Given the description of an element on the screen output the (x, y) to click on. 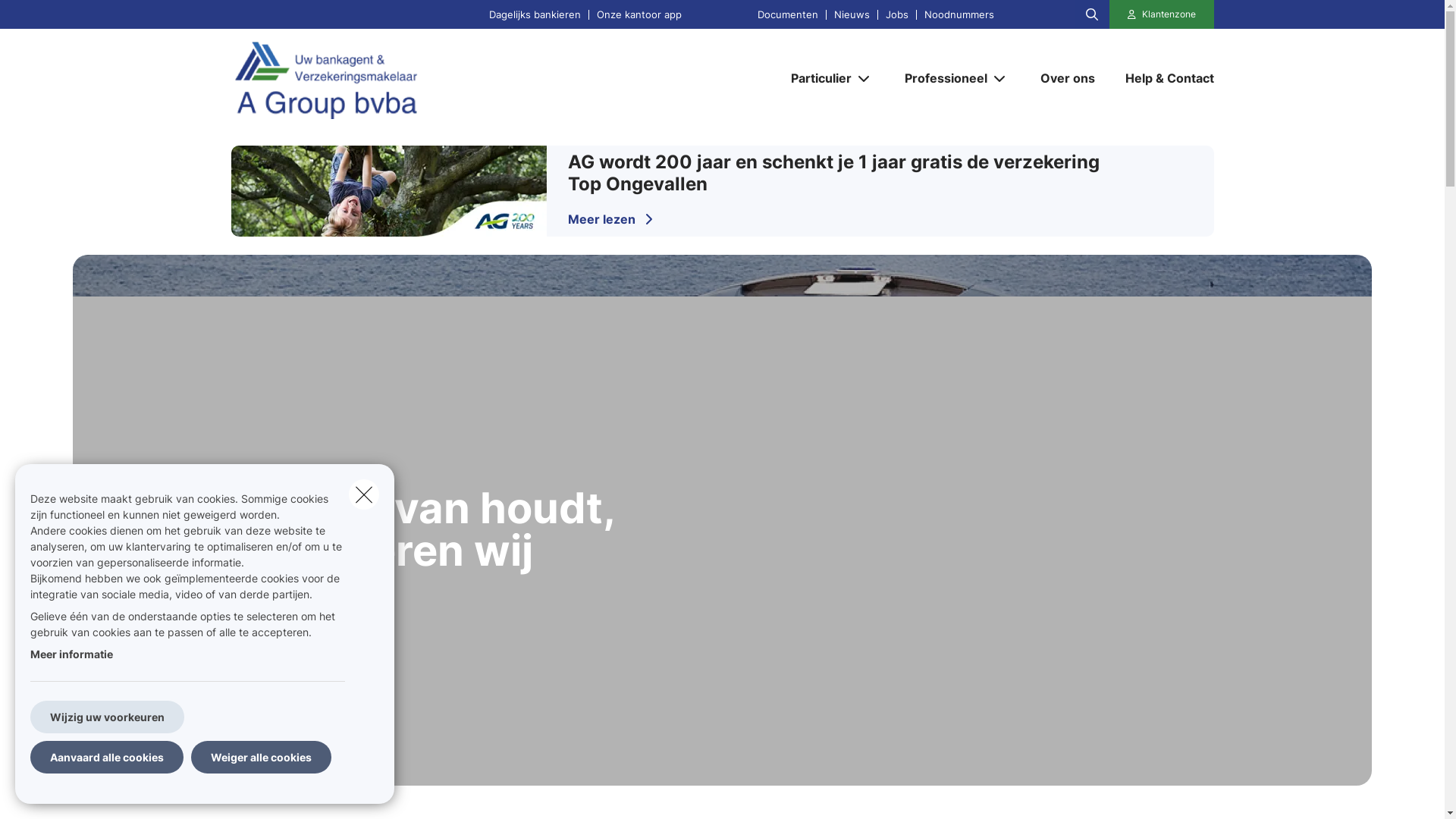
Wijzig uw voorkeuren Element type: text (107, 716)
Nieuws Element type: text (851, 13)
Dagelijks bankieren Element type: text (534, 13)
Documenten Element type: text (787, 13)
Aanvaard alle cookies Element type: text (106, 756)
Meer informatie Element type: text (71, 653)
Over ons Element type: text (1067, 77)
Professioneel Element type: text (939, 77)
Noodnummers Element type: text (958, 13)
Weiger alle cookies Element type: text (261, 756)
Meer lezen Element type: text (609, 218)
Onze kantoor app Element type: text (638, 13)
Klantenzone Element type: text (1161, 14)
Jobs Element type: text (896, 13)
Zoeken Element type: text (42, 18)
Help & Contact Element type: text (1162, 77)
Particulier Element type: text (814, 77)
